Given the description of an element on the screen output the (x, y) to click on. 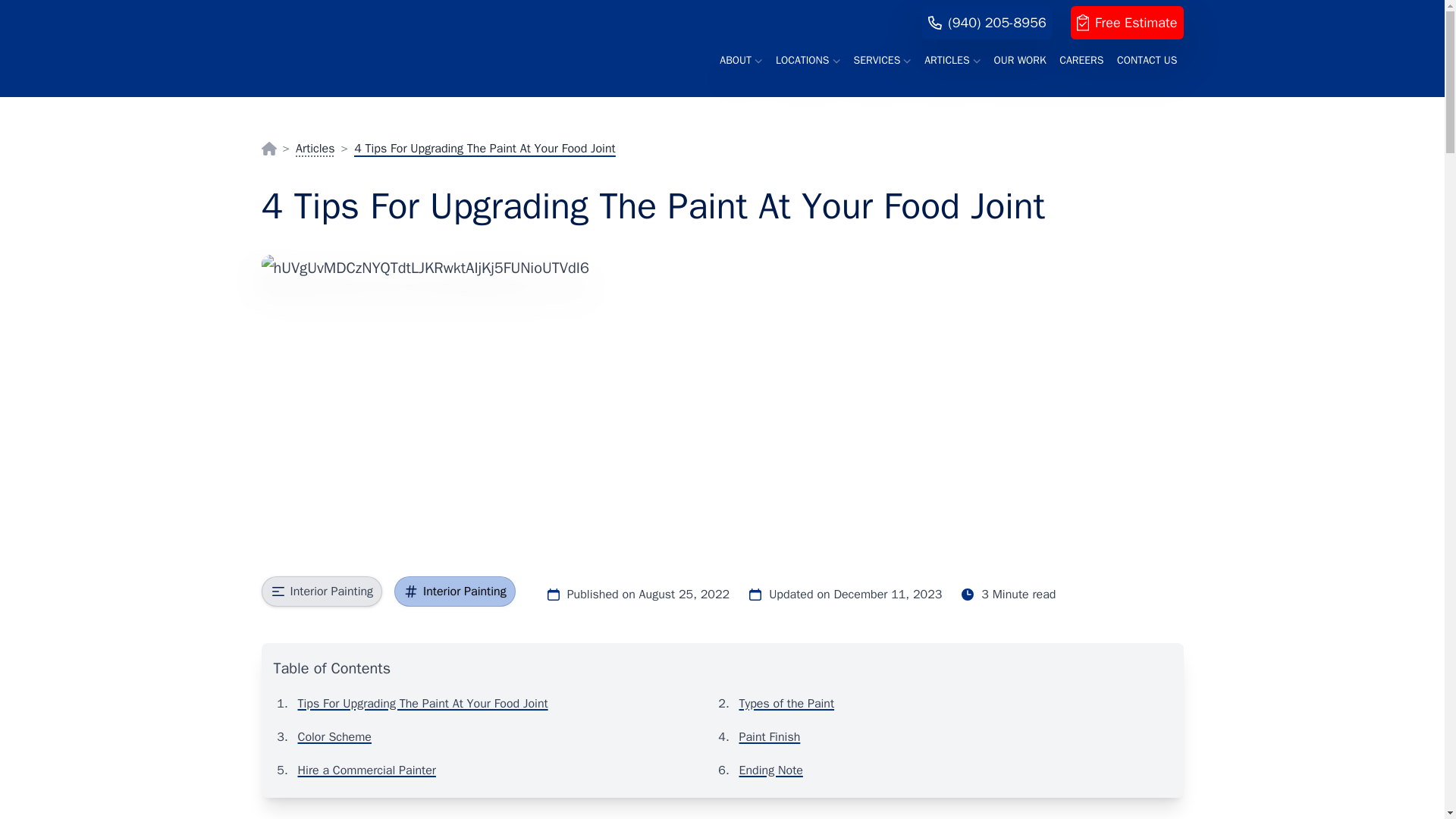
ARTICLES (952, 60)
LOCATIONS (807, 60)
Free Estimate (1126, 22)
ABOUT (740, 60)
SERVICES (882, 60)
